Given the description of an element on the screen output the (x, y) to click on. 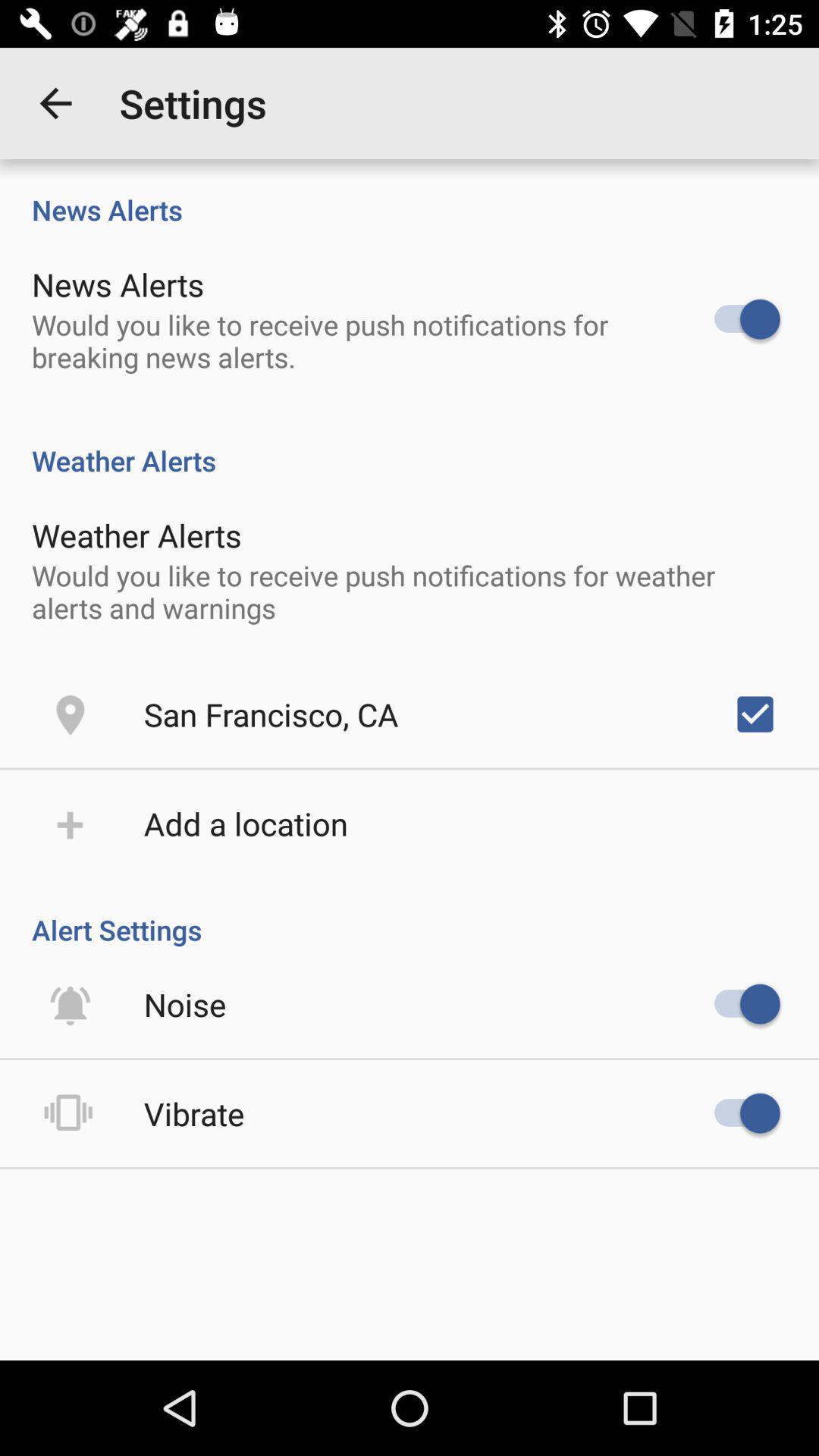
turn on icon to the left of the settings  app (55, 103)
